Given the description of an element on the screen output the (x, y) to click on. 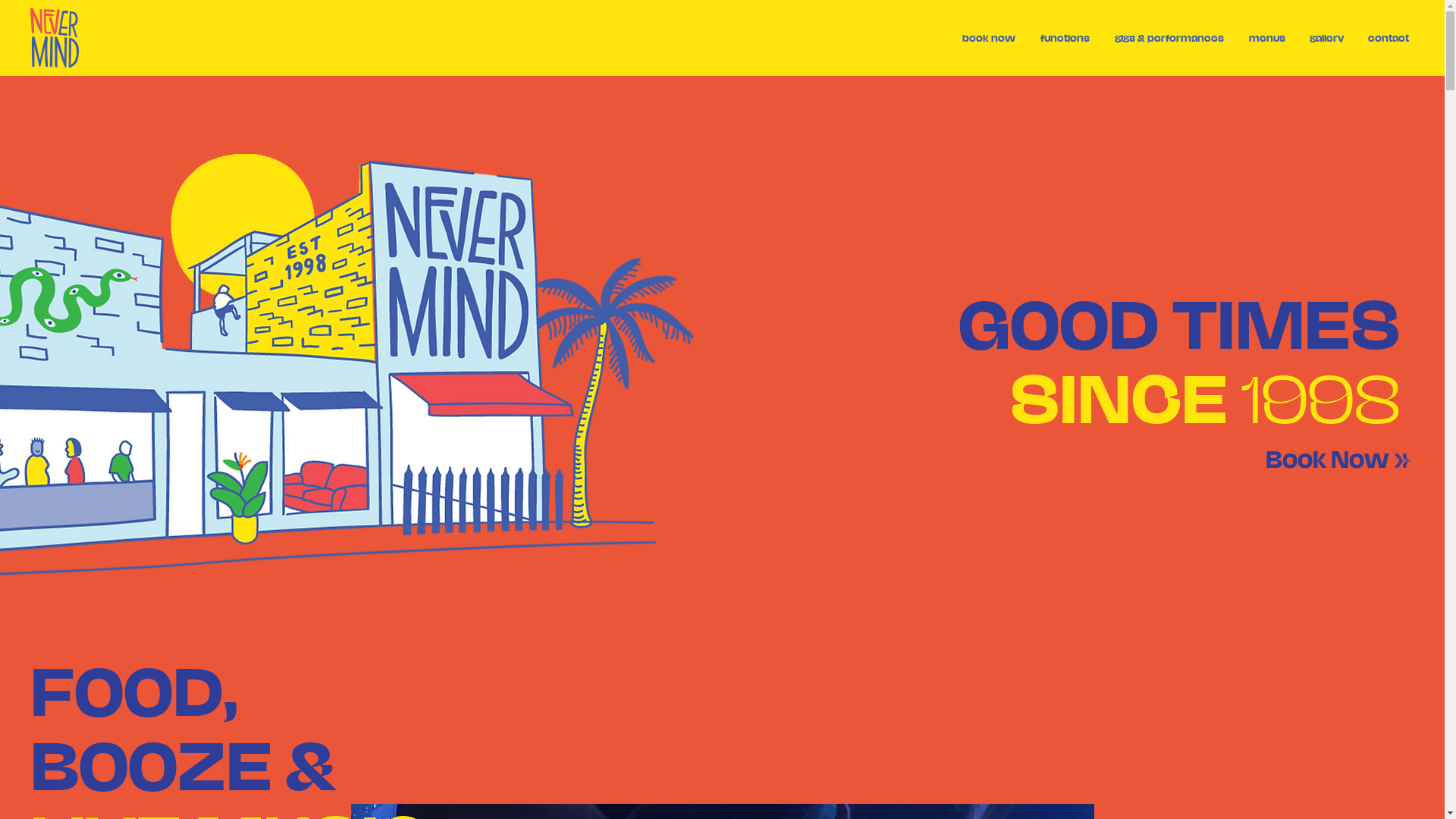
gallery Element type: text (1326, 36)
functions Element type: text (1064, 36)
book now Element type: text (988, 36)
gigs & performances Element type: text (1168, 36)
contact Element type: text (1388, 36)
